Given the description of an element on the screen output the (x, y) to click on. 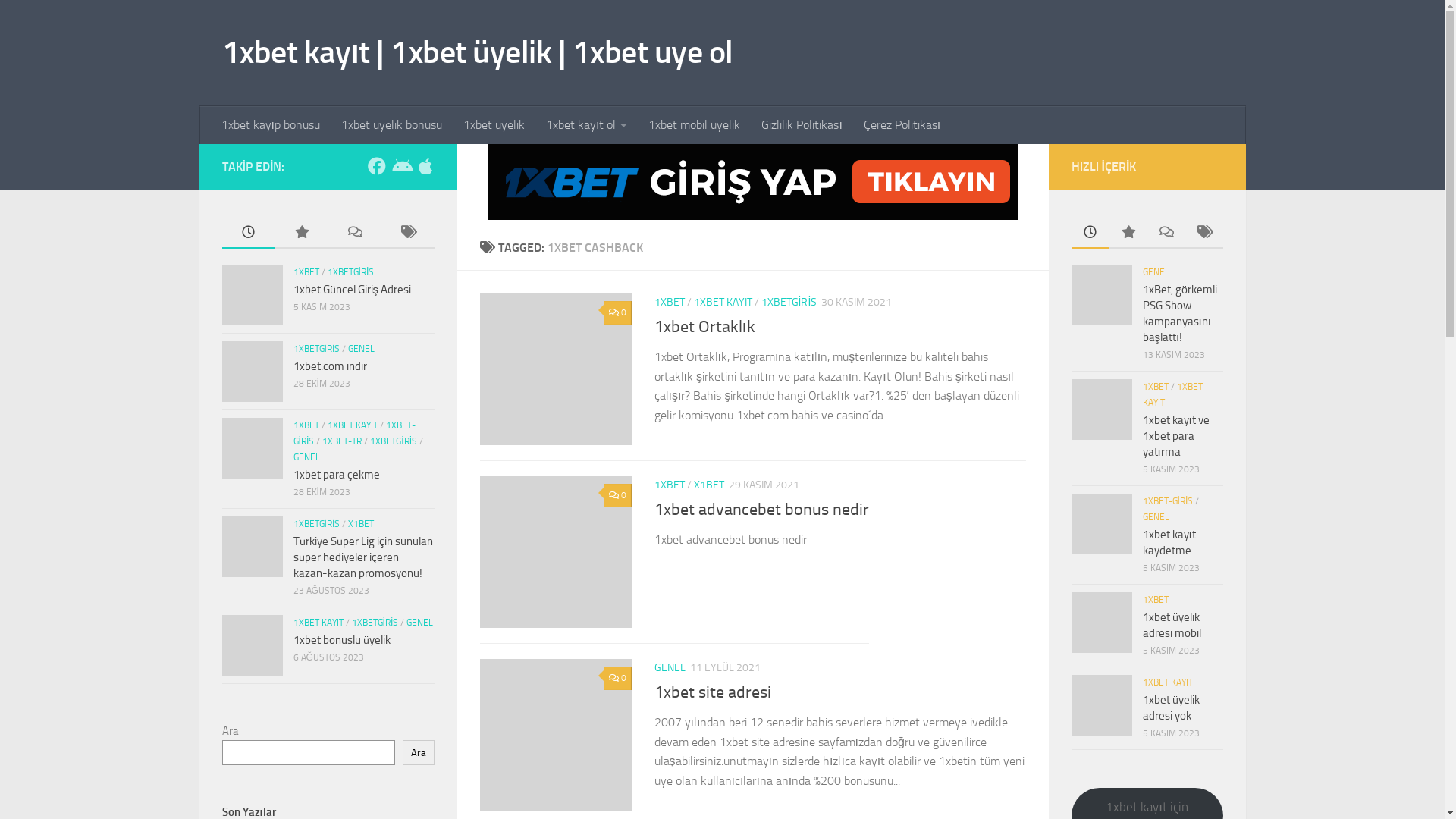
1XBETGIRIS Element type: text (393, 441)
1XBET KAYIT Element type: text (722, 301)
Popular Posts Element type: hover (1127, 232)
1XBET-TR Element type: text (341, 441)
1XBET Element type: text (668, 301)
1XBET-GIRIS Element type: text (1167, 500)
X1BET Element type: text (360, 523)
1xbet site adresi Element type: text (711, 692)
Skip to content Element type: text (60, 21)
Recent Comments Element type: hover (353, 232)
0 Element type: text (616, 678)
GENEL Element type: text (361, 348)
1XBET Element type: text (1154, 386)
1XBET Element type: text (668, 484)
Ara Element type: text (417, 752)
Recent Comments Element type: hover (1165, 232)
Follow us on Facebook Element type: hover (376, 165)
0 Element type: text (616, 312)
1XBETGIRIS Element type: text (374, 622)
1XBET Element type: text (305, 425)
0 Element type: text (616, 495)
1xbet advancebet bonus nedir Element type: text (760, 509)
1XBET Element type: text (1154, 599)
Popular Posts Element type: hover (300, 232)
1XBET KAYIT Element type: text (352, 425)
1XBET KAYIT Element type: text (1167, 682)
1XBETGIRIS Element type: text (350, 271)
Tags Element type: hover (1203, 232)
1XBET KAYIT Element type: text (1171, 394)
GENEL Element type: text (419, 622)
1XBETGIRIS Element type: text (315, 348)
Tags Element type: hover (406, 232)
1XBET Element type: text (305, 271)
1XBET-GIRIS Element type: text (353, 433)
GENEL Element type: text (305, 456)
X1BET Element type: text (708, 484)
Recent Posts Element type: hover (247, 232)
GENEL Element type: text (668, 667)
1XBETGIRIS Element type: text (315, 523)
Recent Posts Element type: hover (1089, 232)
GENEL Element type: text (1155, 516)
GENEL Element type: text (1155, 271)
Follow us on Apple Element type: hover (424, 165)
1xbet.com indir Element type: text (329, 366)
Follow us on Android Element type: hover (400, 165)
1XBET KAYIT Element type: text (317, 622)
1XBETGIRIS Element type: text (789, 301)
